Given the description of an element on the screen output the (x, y) to click on. 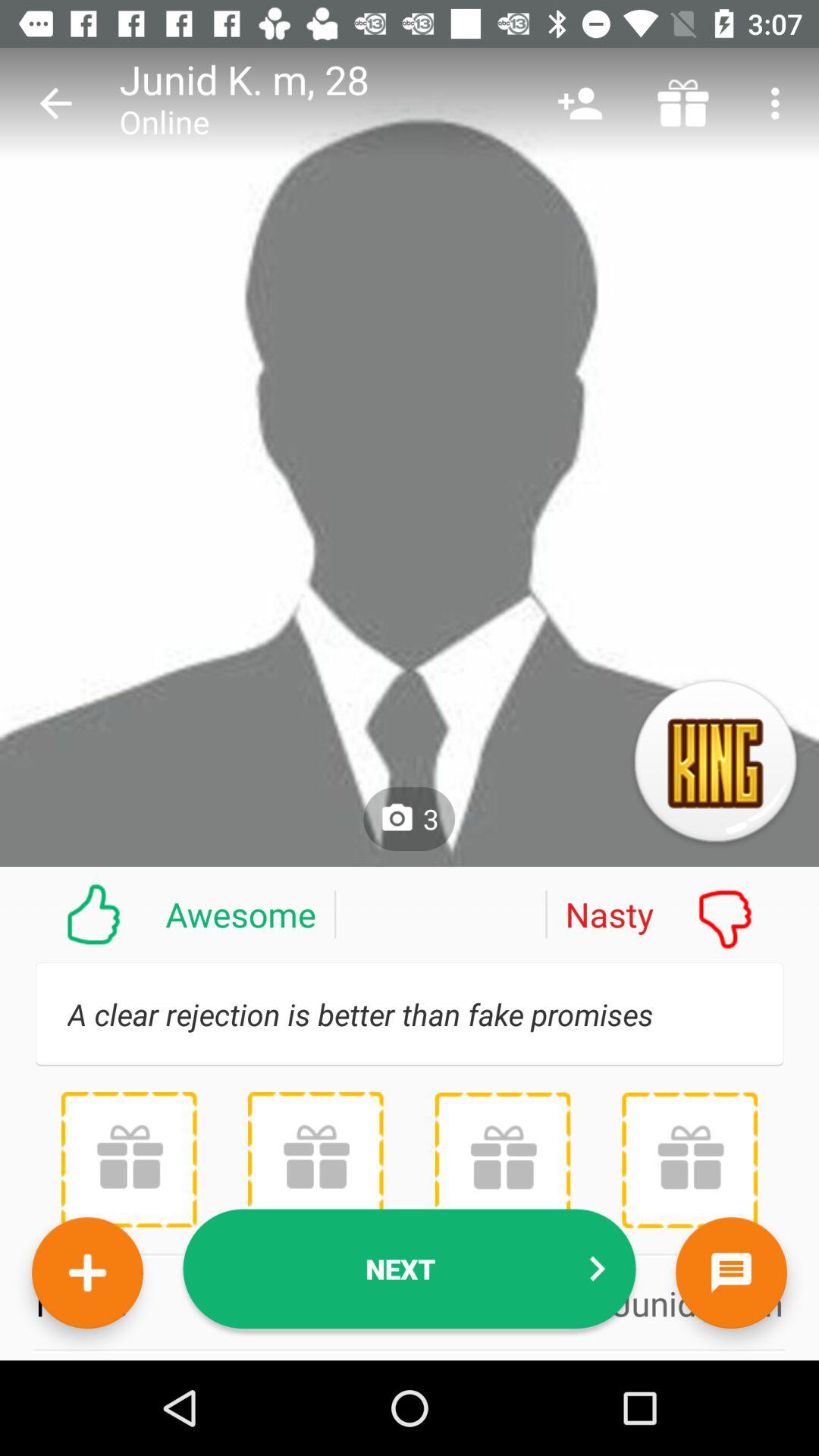
select the icon next to  m, 28 (579, 103)
